Given the description of an element on the screen output the (x, y) to click on. 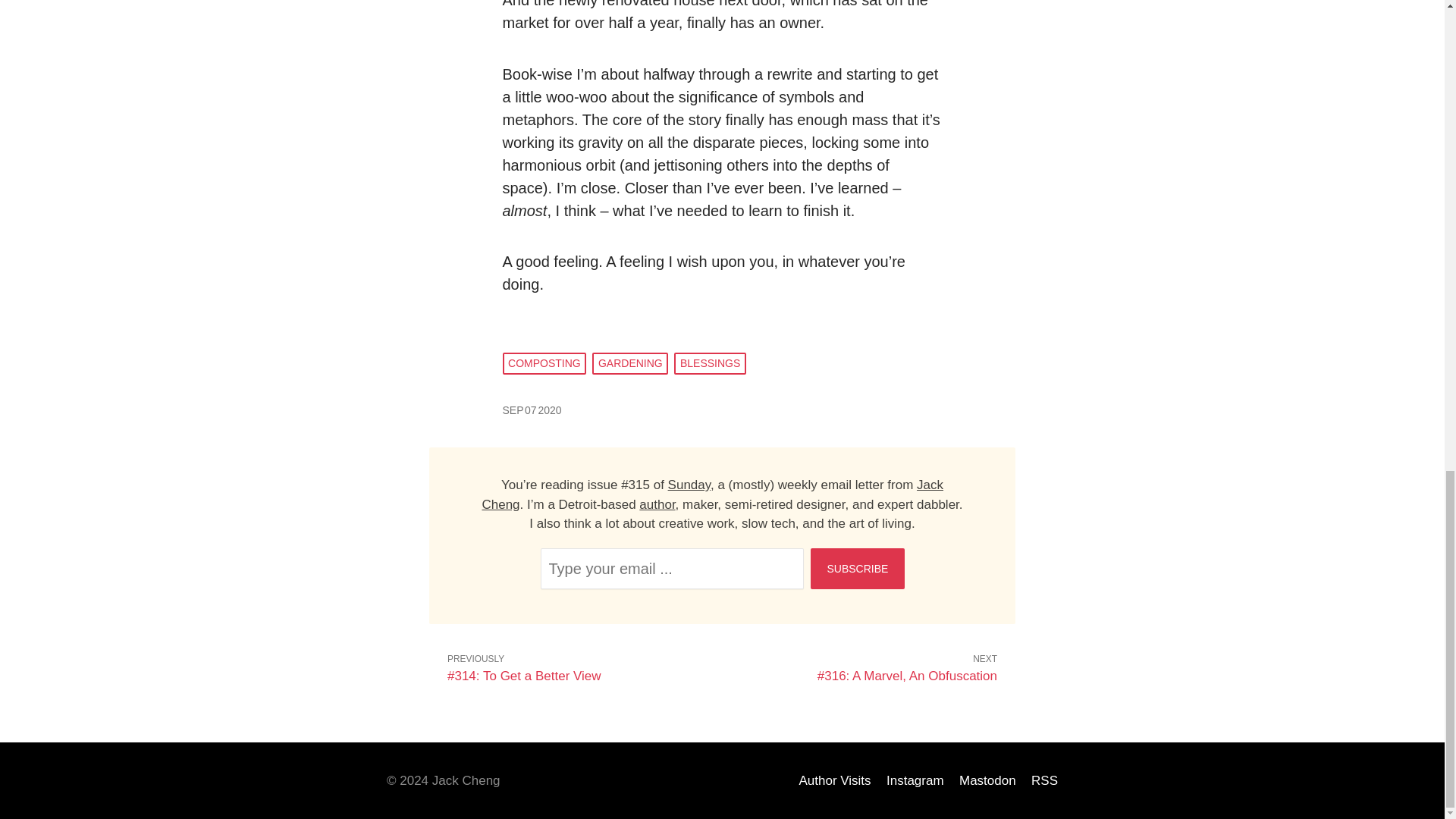
COMPOSTING (544, 363)
Instagram (914, 780)
RSS (1044, 780)
author (657, 504)
GARDENING (630, 363)
BLESSINGS (709, 363)
Jack Cheng (712, 494)
Sunday (689, 484)
Author Visits (833, 780)
Mastodon (987, 780)
SUBSCRIBE (857, 567)
